Given the description of an element on the screen output the (x, y) to click on. 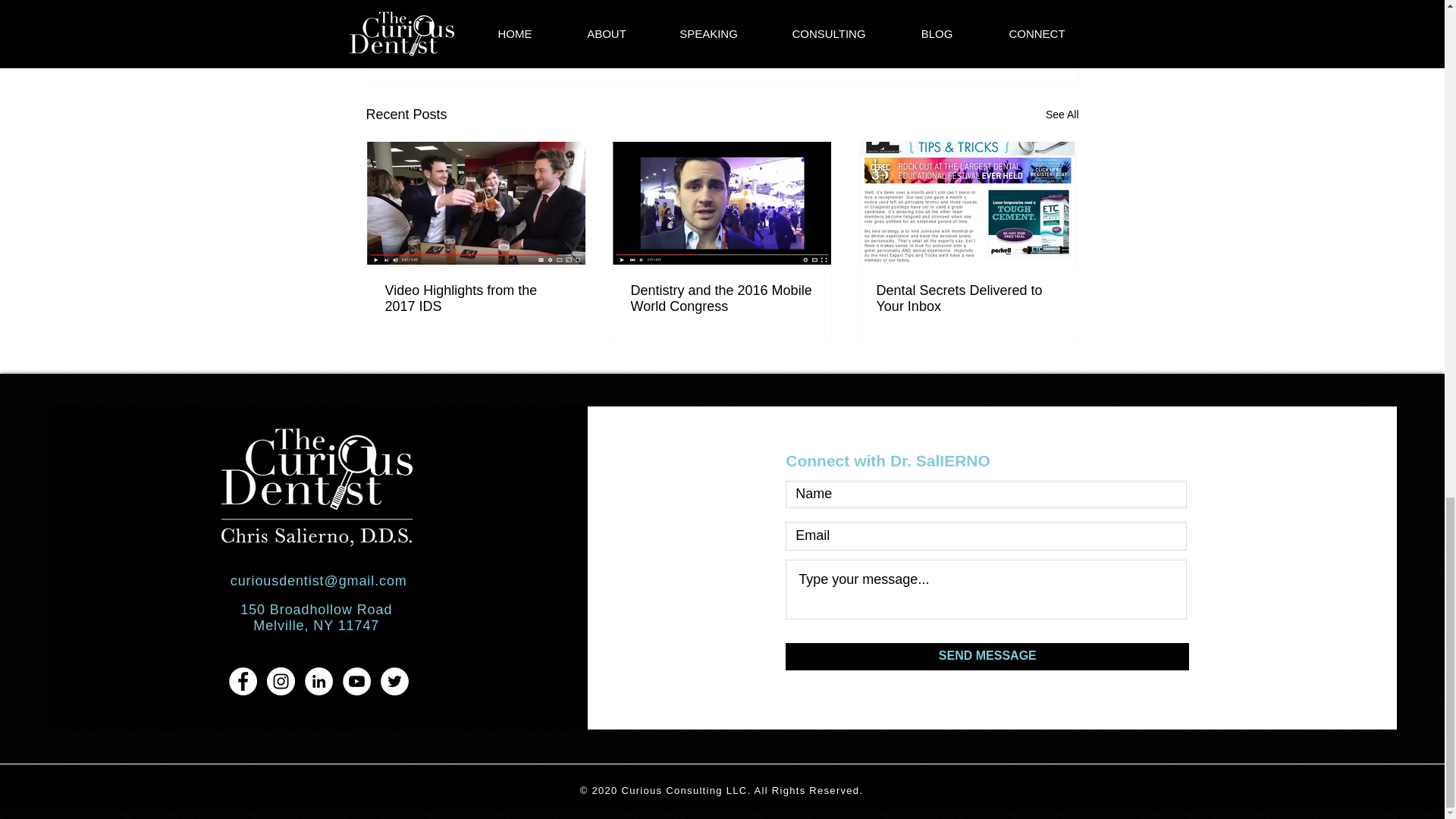
Clinical Dentistry (963, 16)
Dental Secrets Delivered to Your Inbox (967, 297)
Video Highlights from the 2017 IDS (476, 297)
Dentistry and the 2016 Mobile World Congress (721, 297)
See All (1061, 114)
